Given the description of an element on the screen output the (x, y) to click on. 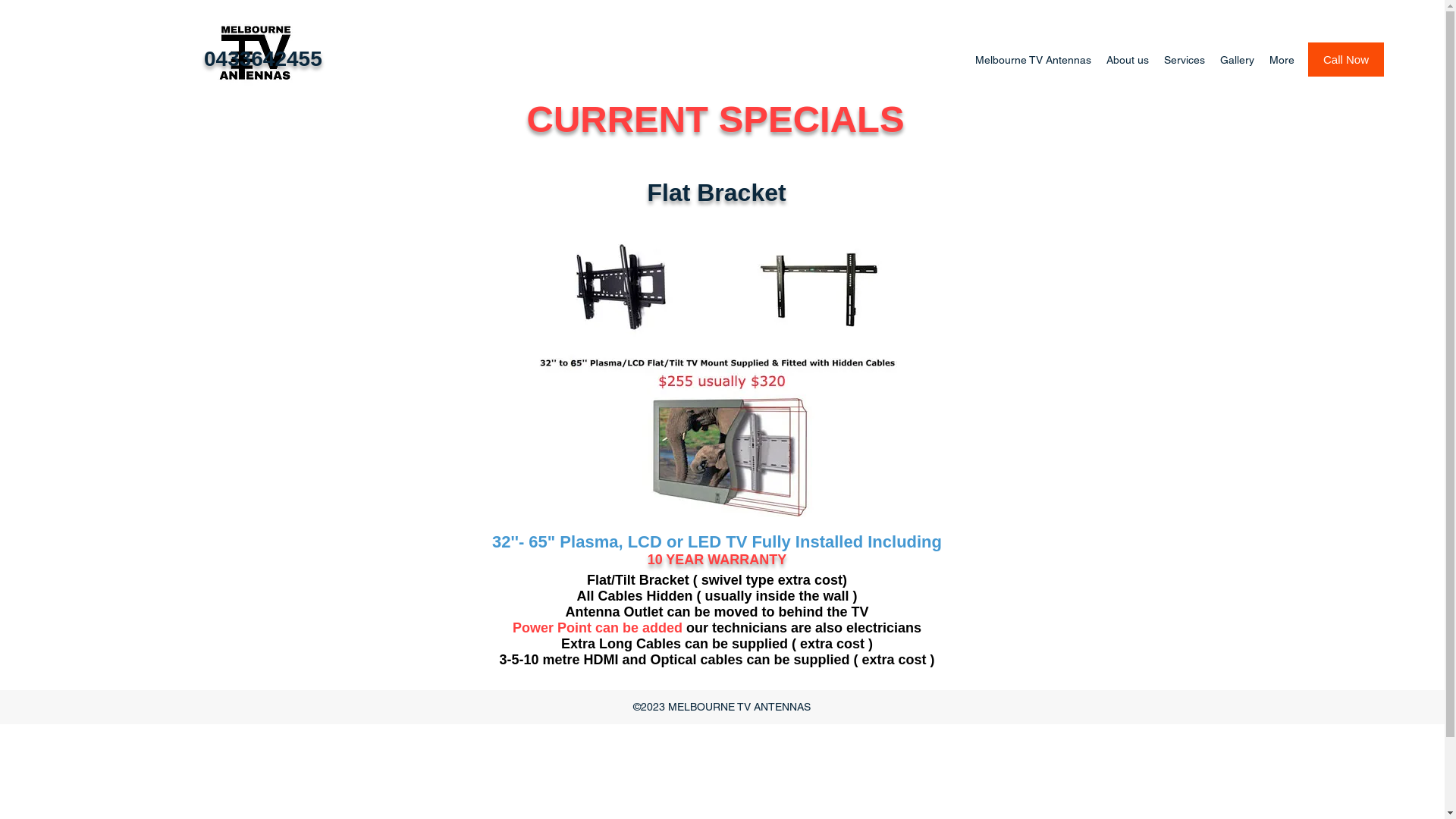
Call Now Element type: text (1345, 59)
Services Element type: text (1184, 59)
Gallery Element type: text (1236, 59)
About us Element type: text (1127, 59)
Melbourne TV Antennas Element type: text (1032, 59)
32-55 4.jpg Element type: hover (721, 367)
